Given the description of an element on the screen output the (x, y) to click on. 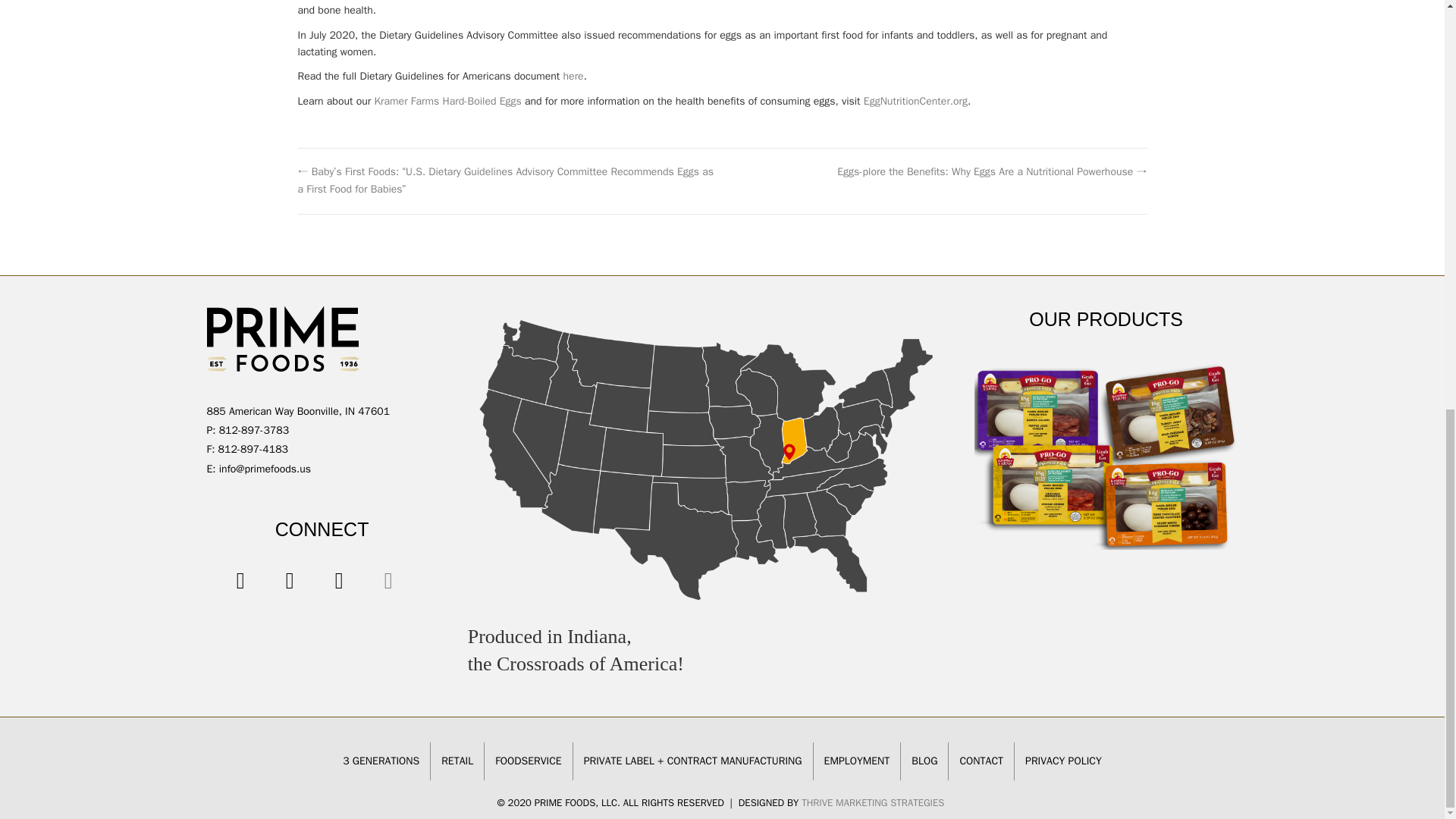
EggNutritionCenter.org (915, 101)
here (573, 75)
Kramer Farms Hard-Boiled Eggs (447, 101)
